Given the description of an element on the screen output the (x, y) to click on. 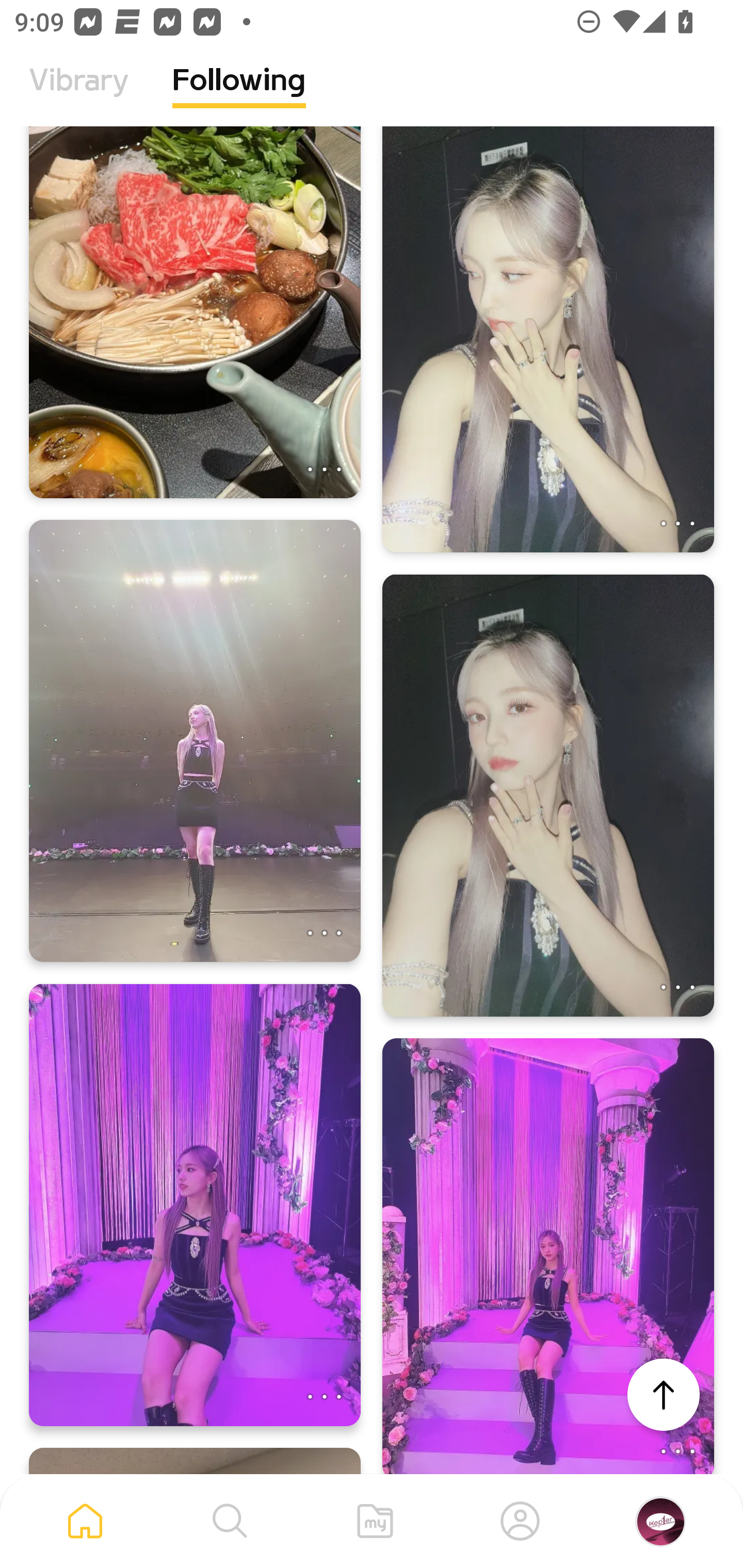
Vibrary (78, 95)
Following (239, 95)
